Given the description of an element on the screen output the (x, y) to click on. 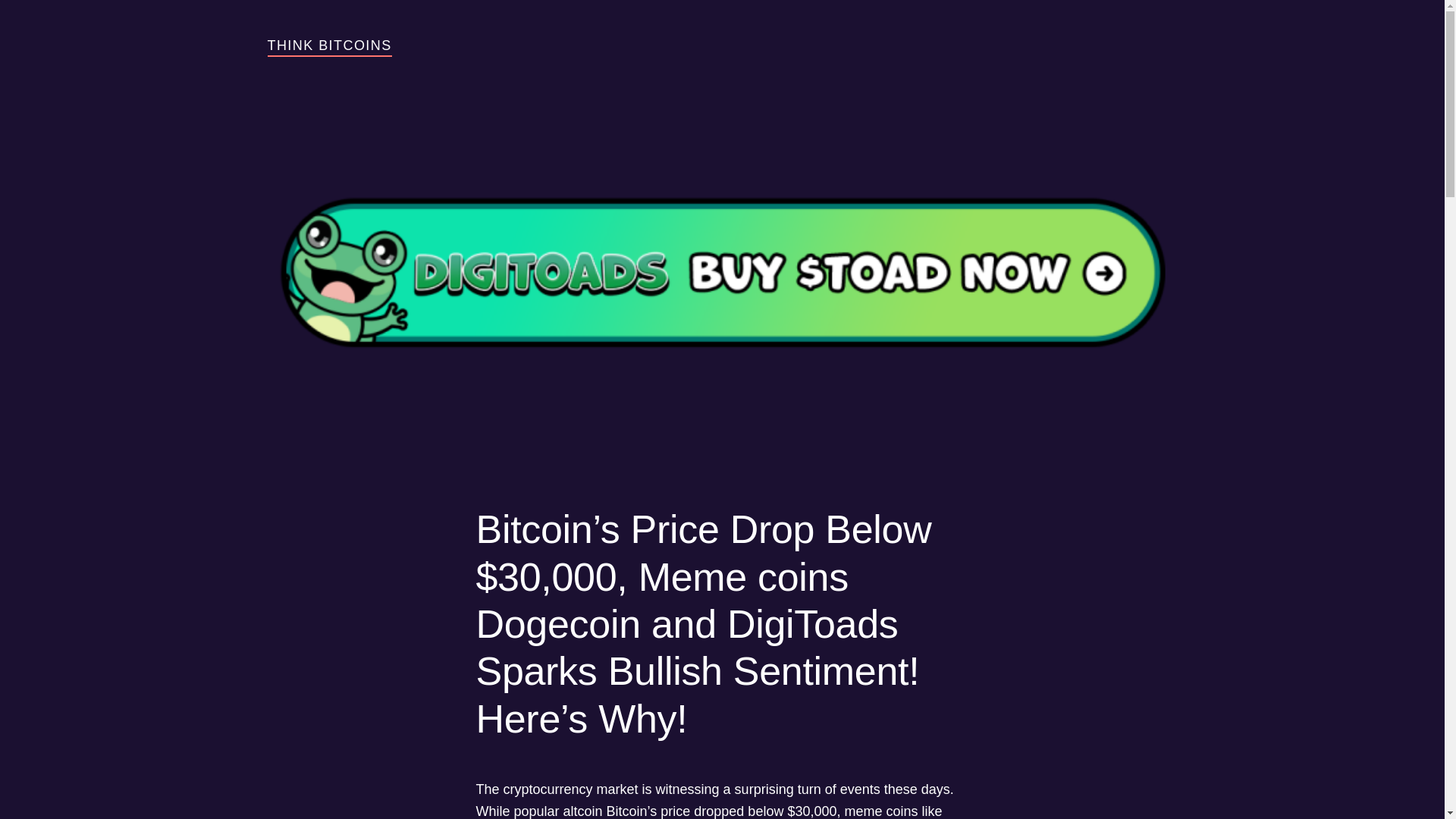
THINK BITCOINS (328, 45)
